Given the description of an element on the screen output the (x, y) to click on. 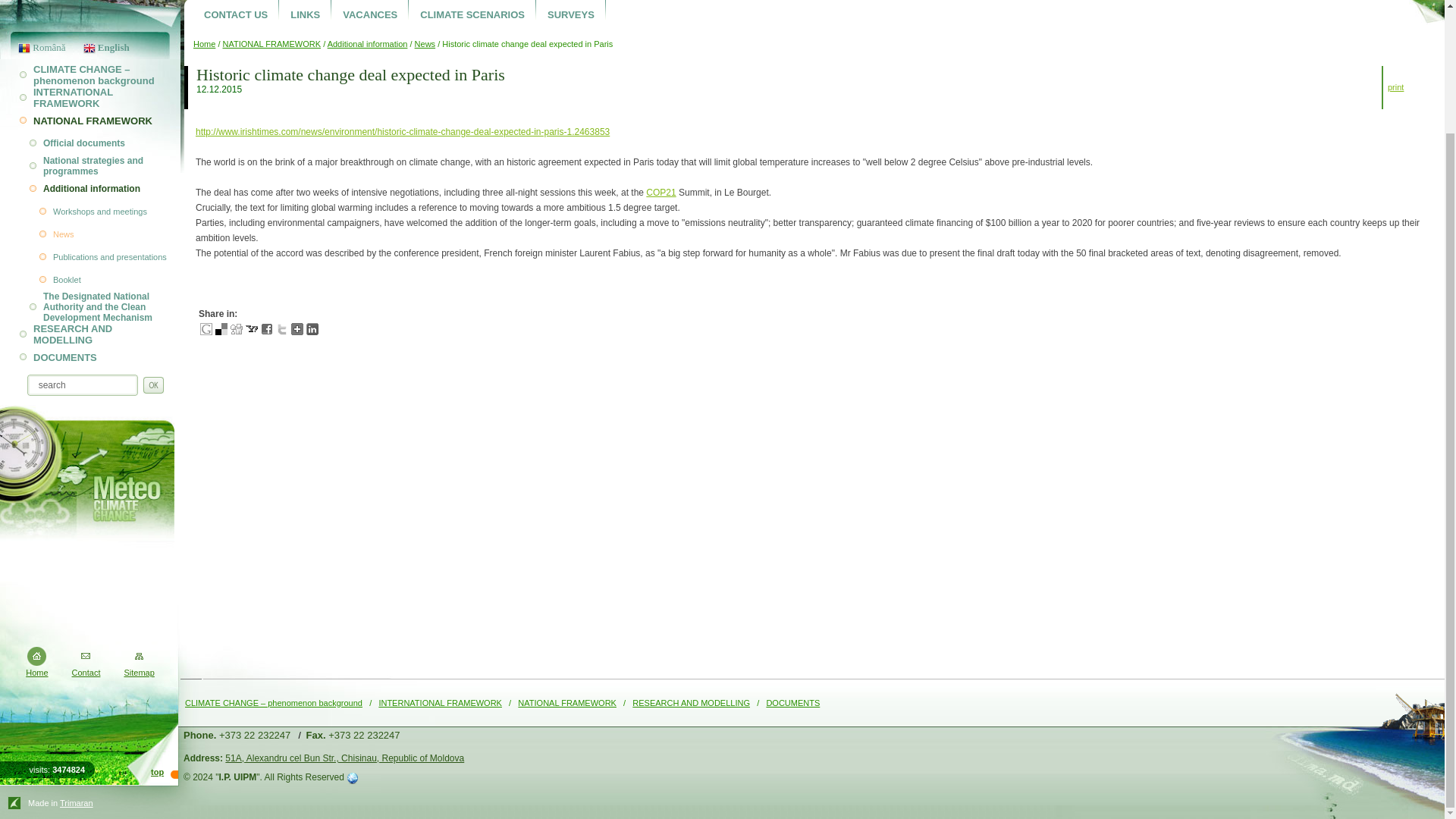
  search   (82, 384)
COP21 (660, 192)
Home (37, 672)
51A, Alexandru cel Bun Str., Chisinau, Republic of Moldova (344, 757)
top (157, 771)
News (424, 43)
NATIONAL FRAMEWORK (566, 701)
Sitemap (138, 672)
  search   (82, 384)
print (1395, 86)
INTERNATIONAL FRAMEWORK (89, 97)
NATIONAL FRAMEWORK (271, 43)
Contact (85, 672)
INTERNATIONAL FRAMEWORK (440, 701)
 English (102, 45)
